Given the description of an element on the screen output the (x, y) to click on. 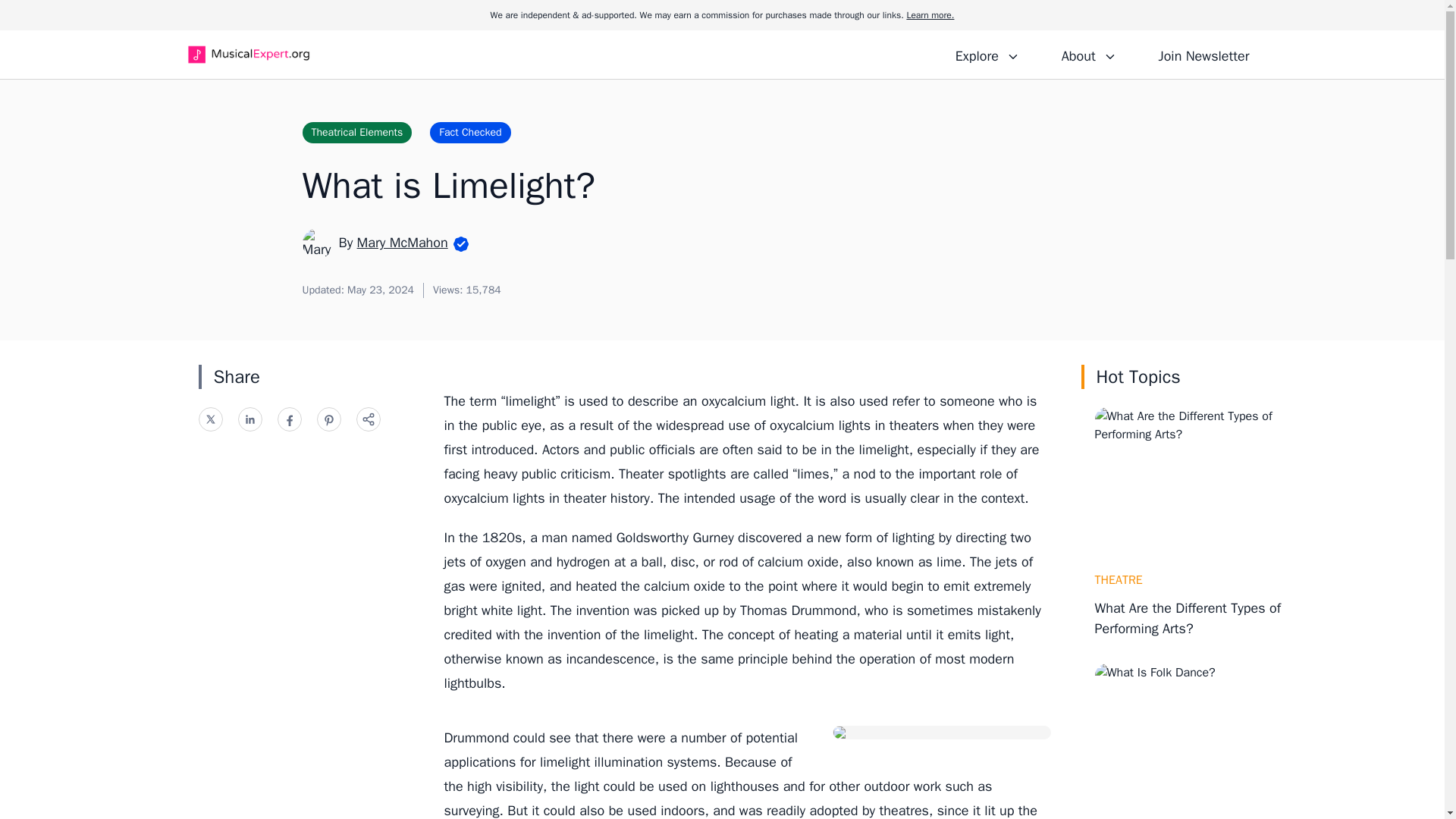
Mary McMahon (402, 242)
Fact Checked (470, 132)
About (1088, 54)
Explore (986, 54)
Join Newsletter (1202, 54)
Learn more. (929, 15)
Theatrical Elements (356, 132)
